Given the description of an element on the screen output the (x, y) to click on. 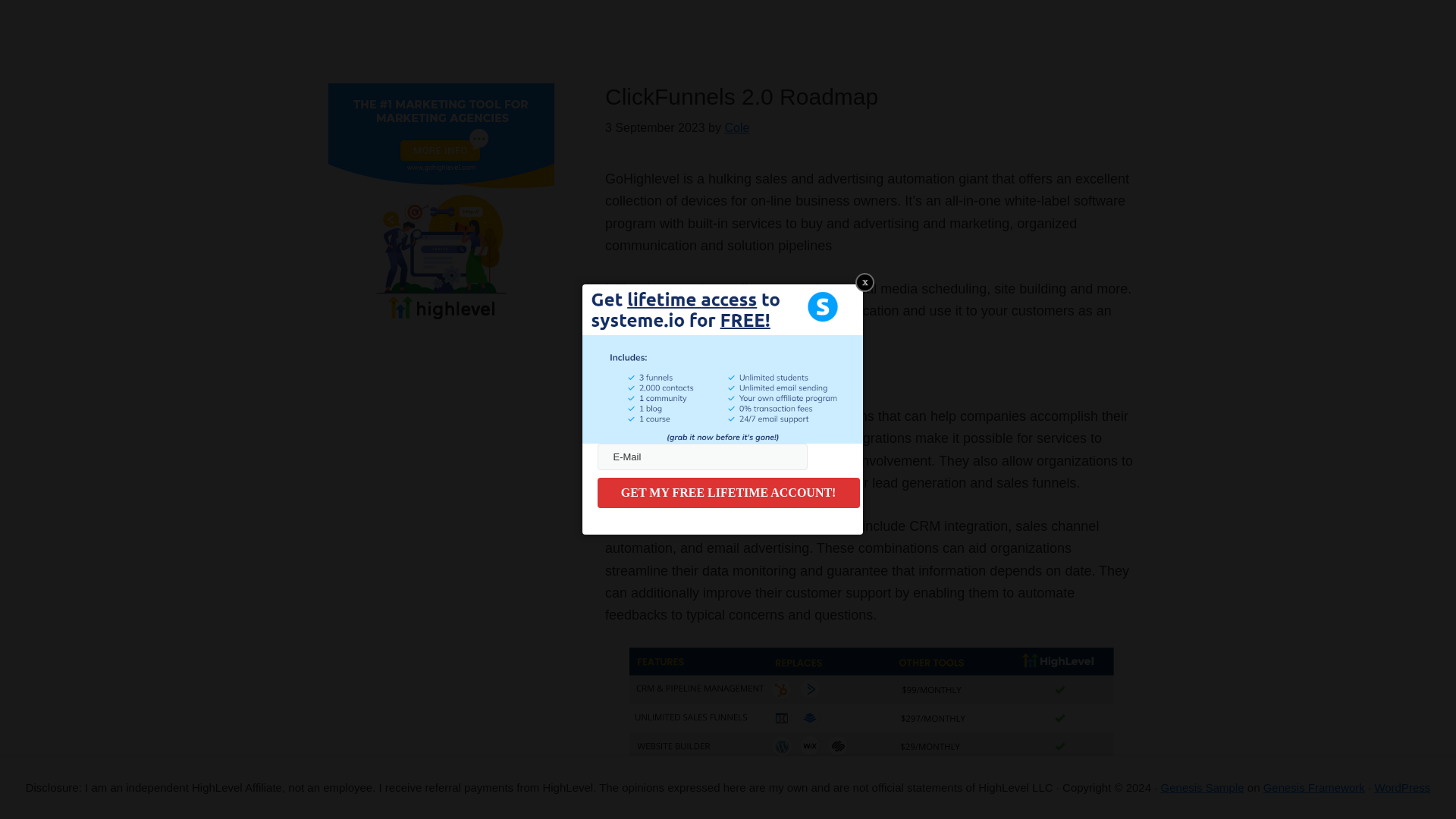
WordPress (1401, 787)
Genesis Framework (1314, 787)
GET MY FREE LIFETIME ACCOUNT! (728, 492)
Genesis Sample (1202, 787)
ClickFunnels 2.0 Roadmap (741, 96)
Cole (736, 127)
GET MY FREE LIFETIME ACCOUNT! (728, 492)
